Given the description of an element on the screen output the (x, y) to click on. 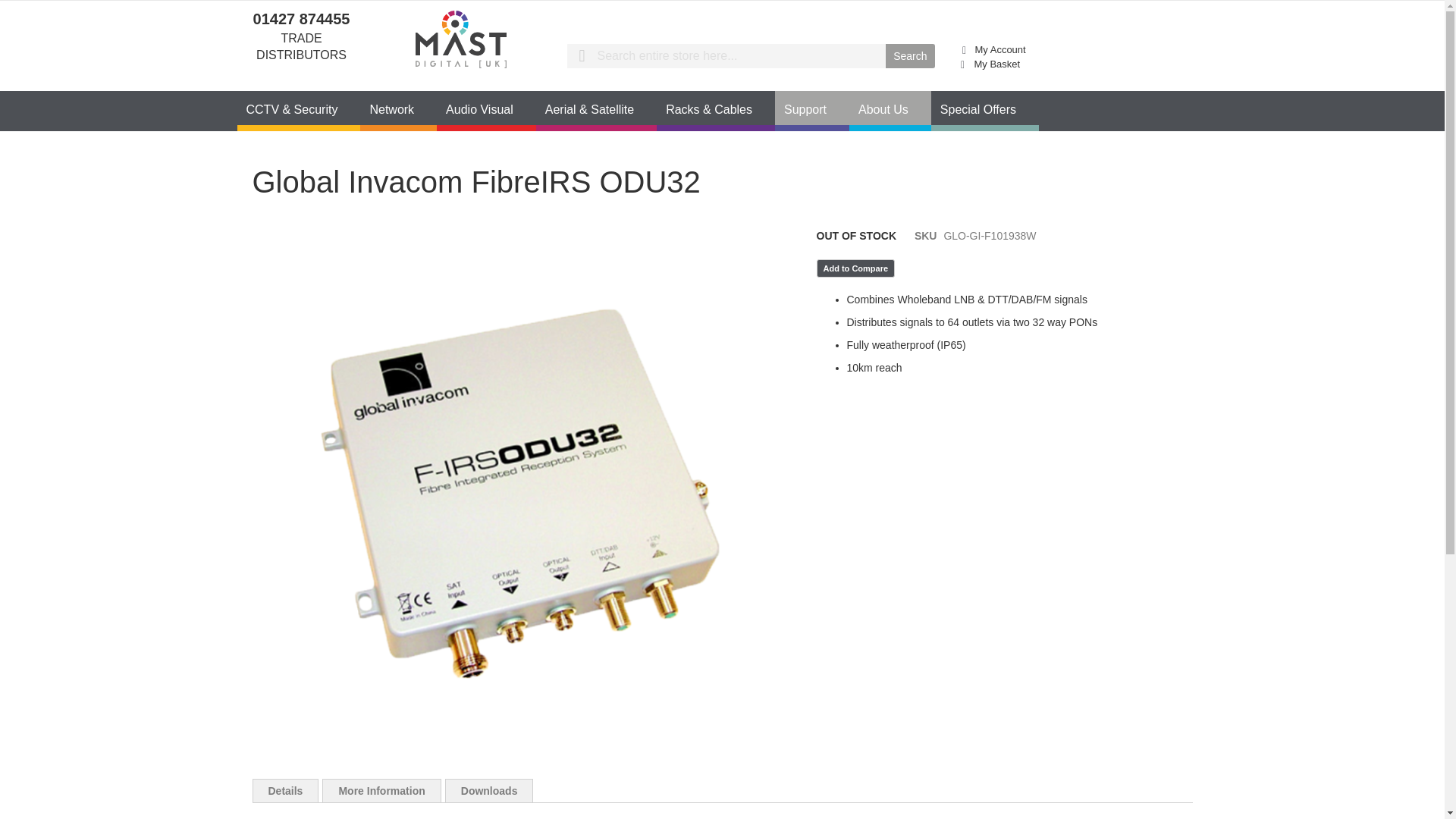
Availability (855, 236)
Mast Digital (459, 41)
My Basket (991, 64)
Search (909, 55)
My Account (1000, 49)
Search (909, 55)
Mast Digital (460, 41)
